Given the description of an element on the screen output the (x, y) to click on. 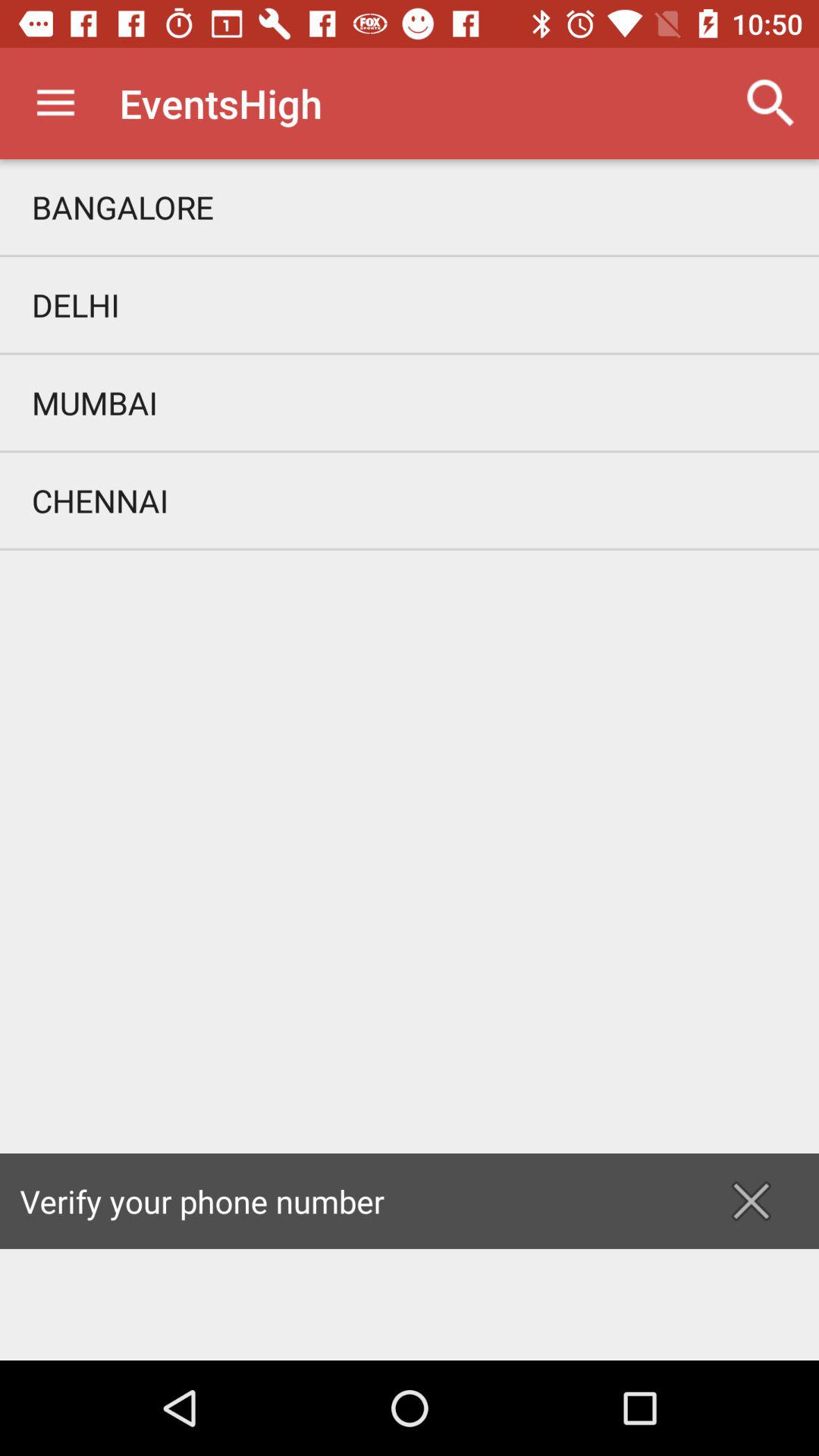
tap the item below delhi item (409, 402)
